Given the description of an element on the screen output the (x, y) to click on. 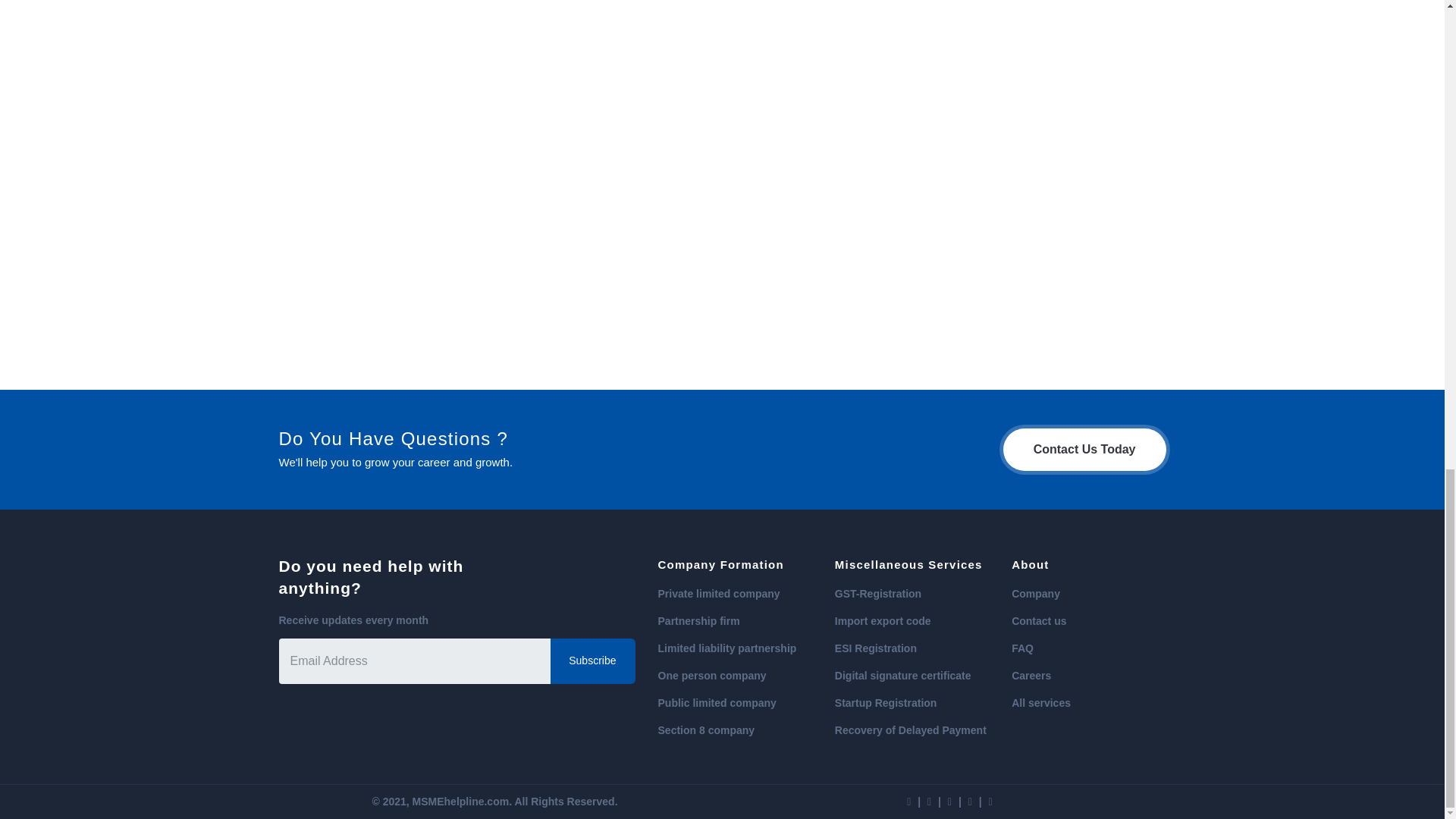
Limited liability partnership (727, 648)
Subscribe (592, 660)
Partnership firm (698, 621)
Private limited company (719, 593)
Contact Us Today (1084, 449)
